Given the description of an element on the screen output the (x, y) to click on. 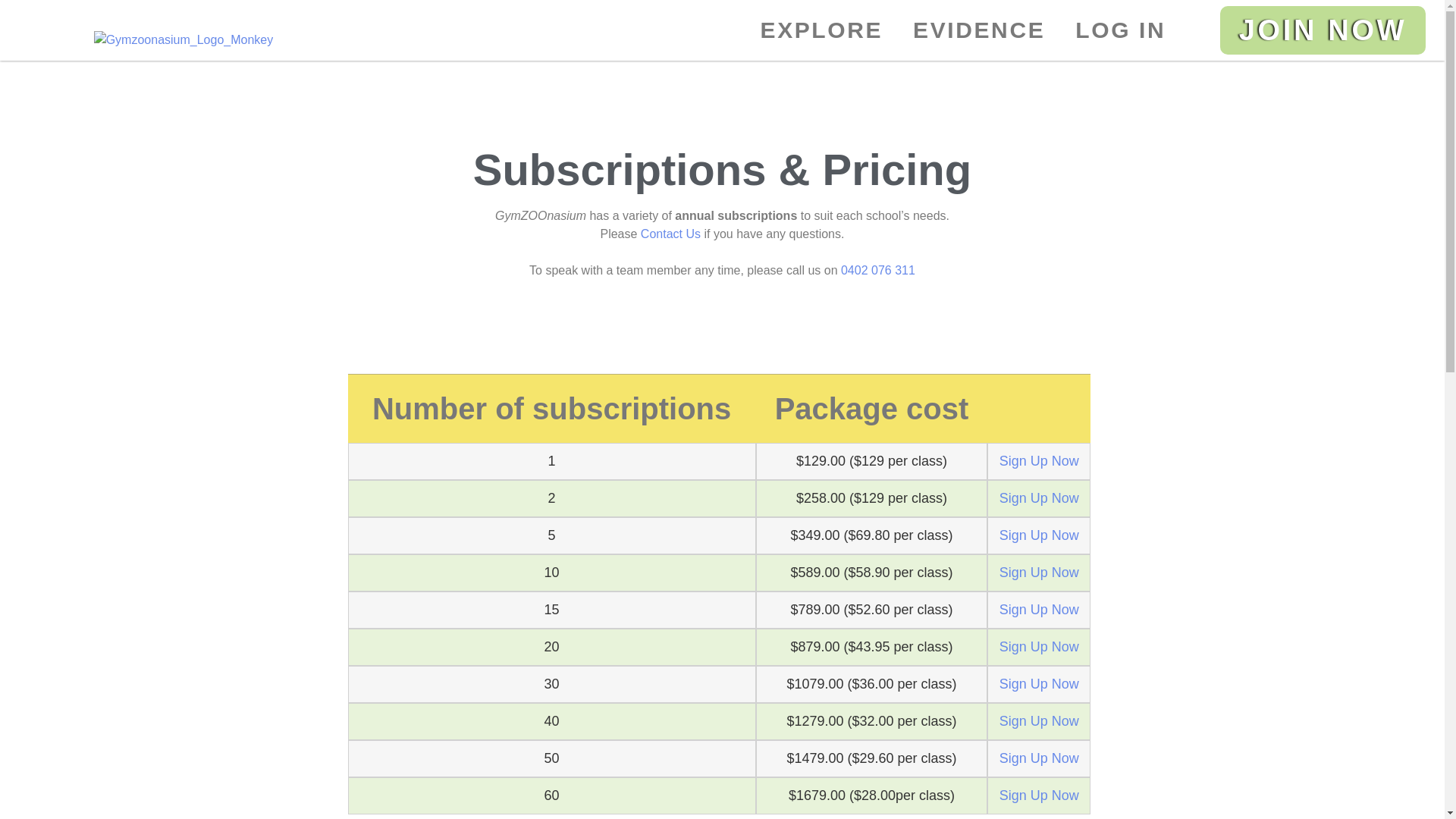
Sign Up Now Element type: text (1038, 758)
LOG IN Element type: text (1120, 29)
0402 076 311 Element type: text (877, 269)
Sign Up Now Element type: text (1038, 572)
EXPLORE Element type: text (821, 29)
Sign Up Now Element type: text (1038, 535)
Sign Up Now Element type: text (1038, 684)
Sign Up Now Element type: text (1038, 647)
Sign Up Now Element type: text (1038, 609)
Gymzoonasium_Logo_Monkey Element type: hover (183, 40)
Sign Up Now Element type: text (1038, 461)
Sign Up Now Element type: text (1038, 795)
JOIN NOW Element type: text (1323, 30)
Sign Up Now Element type: text (1038, 498)
EVIDENCE Element type: text (978, 29)
Contact Us Element type: text (670, 233)
Sign Up Now Element type: text (1038, 721)
